Given the description of an element on the screen output the (x, y) to click on. 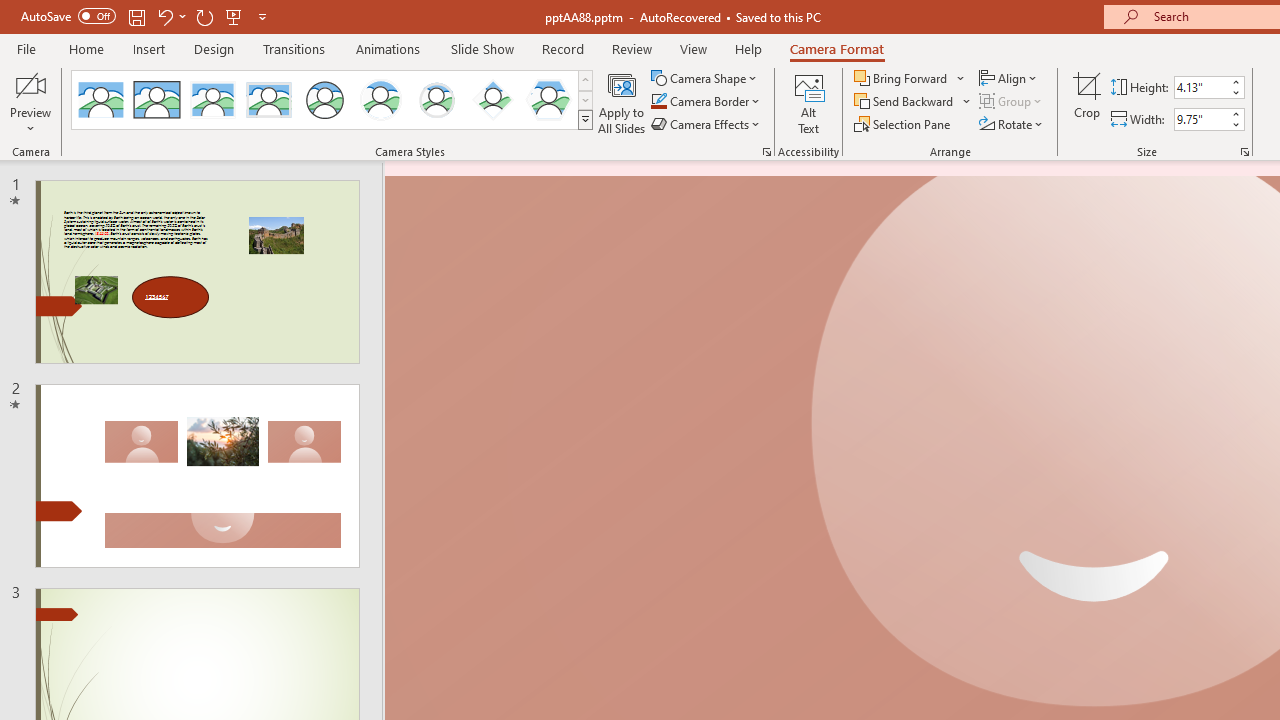
Center Shadow Hexagon (548, 100)
Selection Pane... (904, 124)
Size and Position... (1244, 151)
Enable Camera Preview (30, 84)
Simple Frame Rectangle (157, 100)
